Given the description of an element on the screen output the (x, y) to click on. 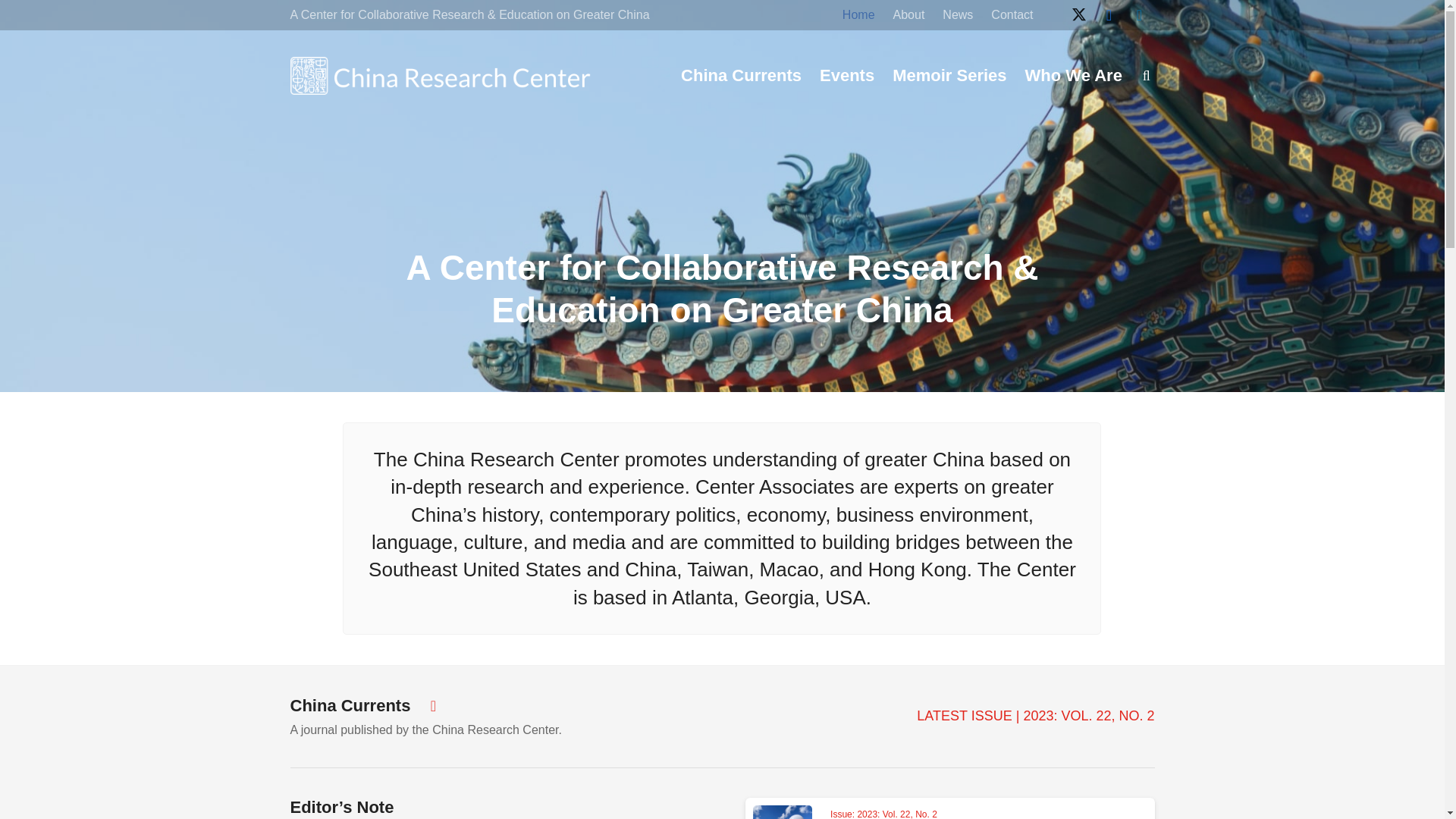
Home (857, 17)
Events (846, 75)
Contact (1011, 17)
Facebook (1108, 15)
About (908, 17)
China Currents (740, 75)
Twitter (1077, 15)
Memoir Series (948, 75)
LinkedIn (1139, 15)
Who We Are (1073, 75)
News (957, 17)
